Given the description of an element on the screen output the (x, y) to click on. 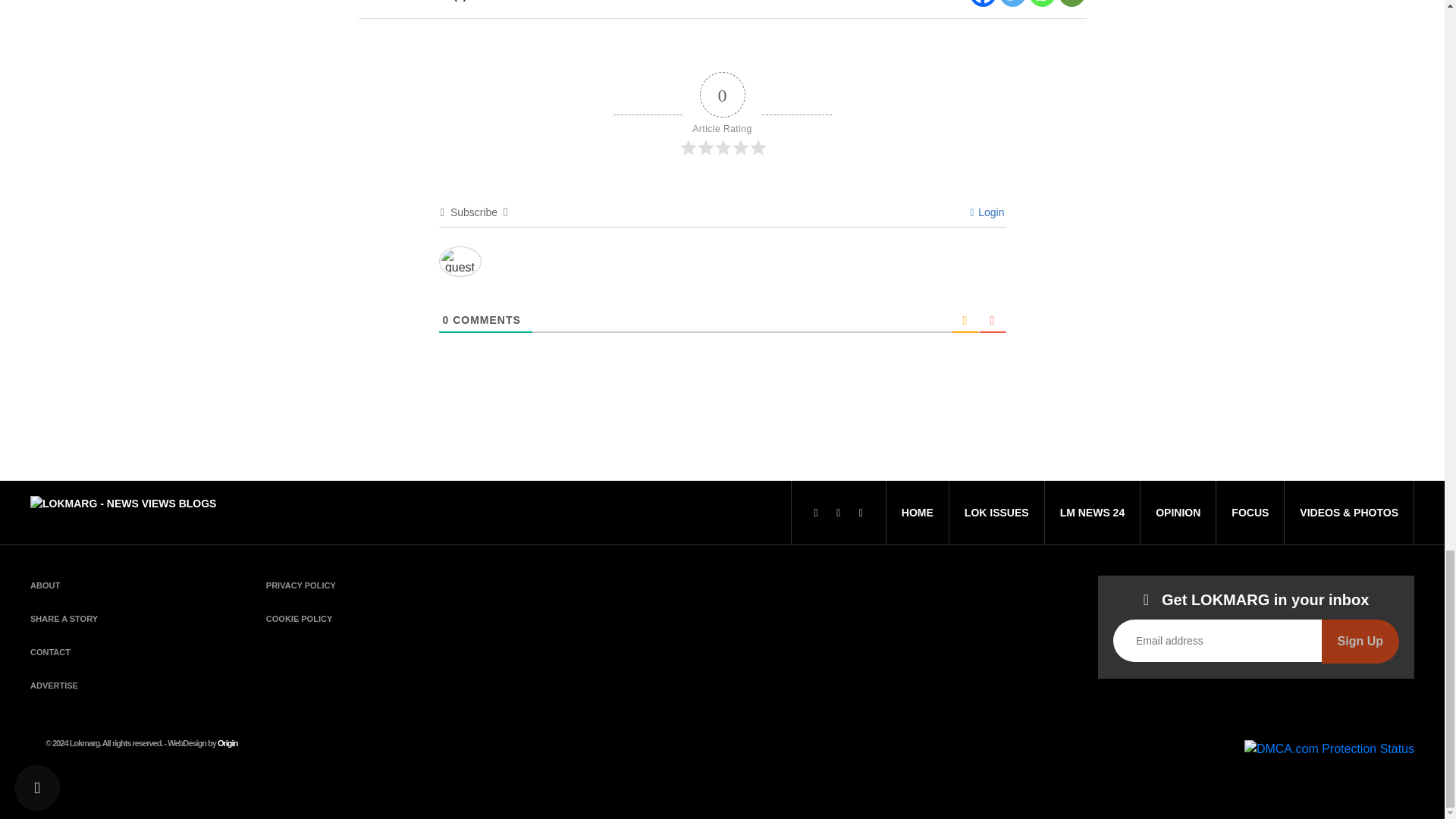
Login (986, 212)
Sign Up (1360, 641)
